Given the description of an element on the screen output the (x, y) to click on. 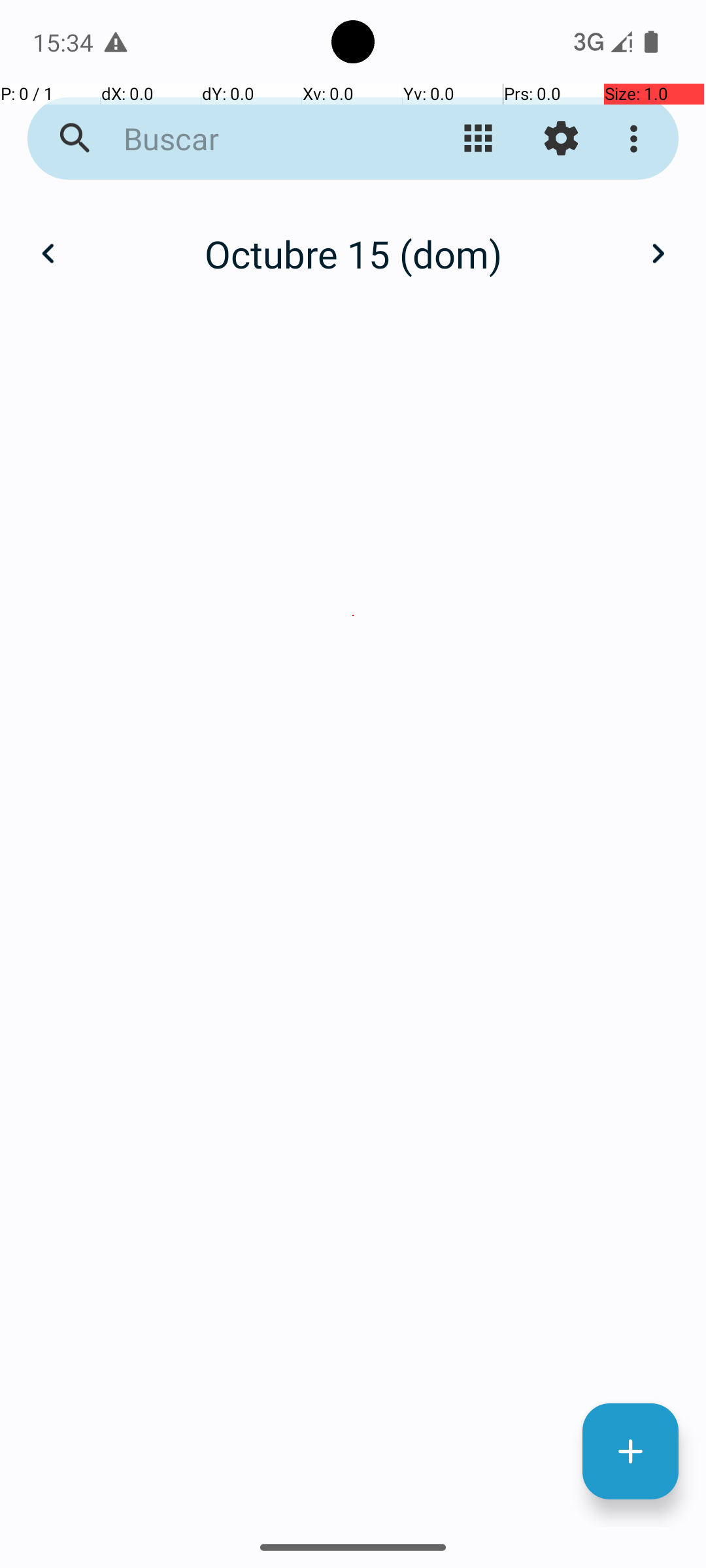
Octubre 15 (dom) Element type: android.widget.TextView (352, 253)
